Given the description of an element on the screen output the (x, y) to click on. 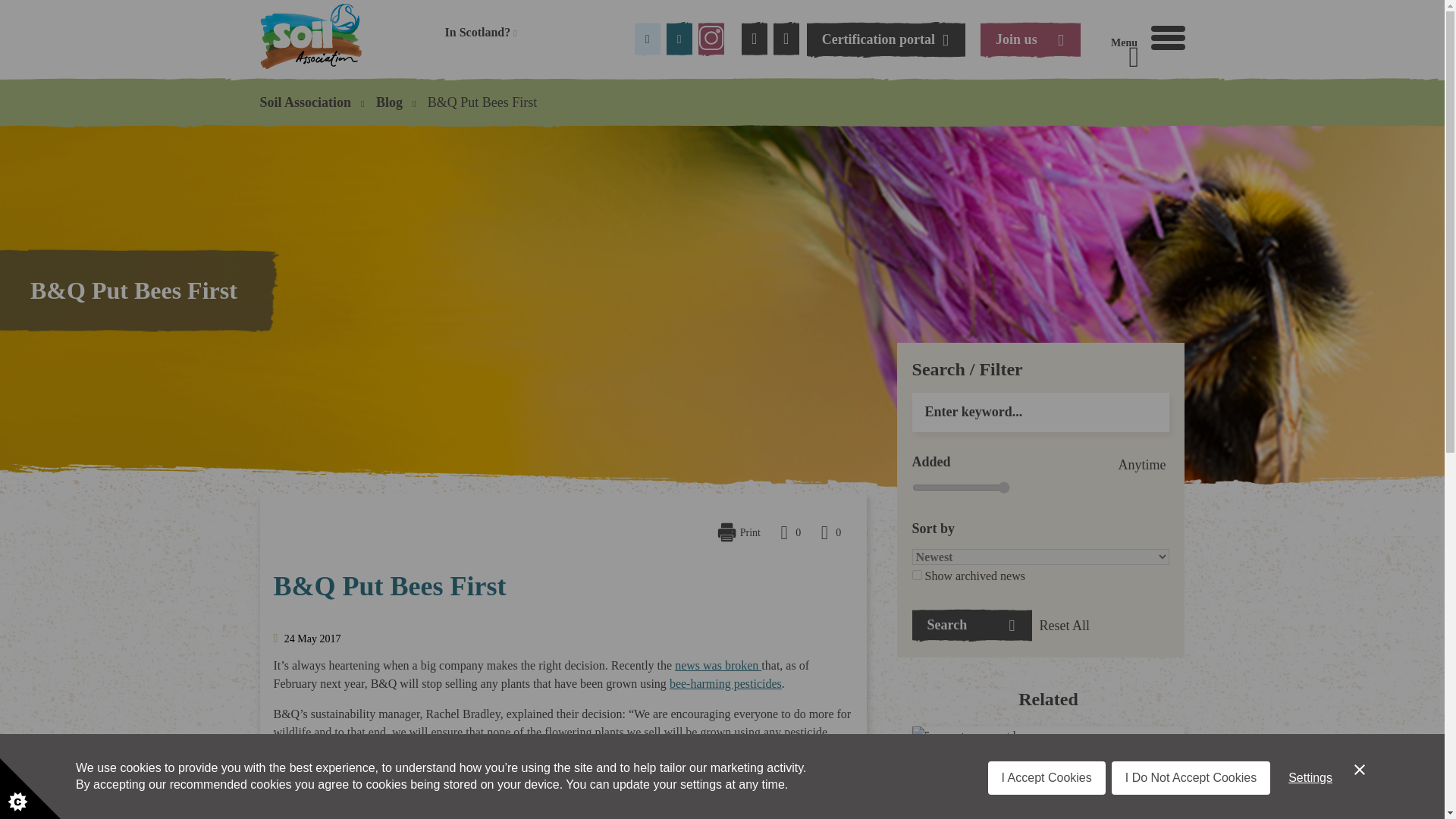
Certification portal (885, 39)
on (916, 574)
Soil Association Instagram (710, 39)
Bee Organic (725, 683)
Settings (1168, 37)
5 (1309, 812)
5 (961, 487)
In Scotland? (961, 487)
Soil Association Twitter (480, 31)
Soil Association Facebook (647, 39)
Join us (679, 39)
